Given the description of an element on the screen output the (x, y) to click on. 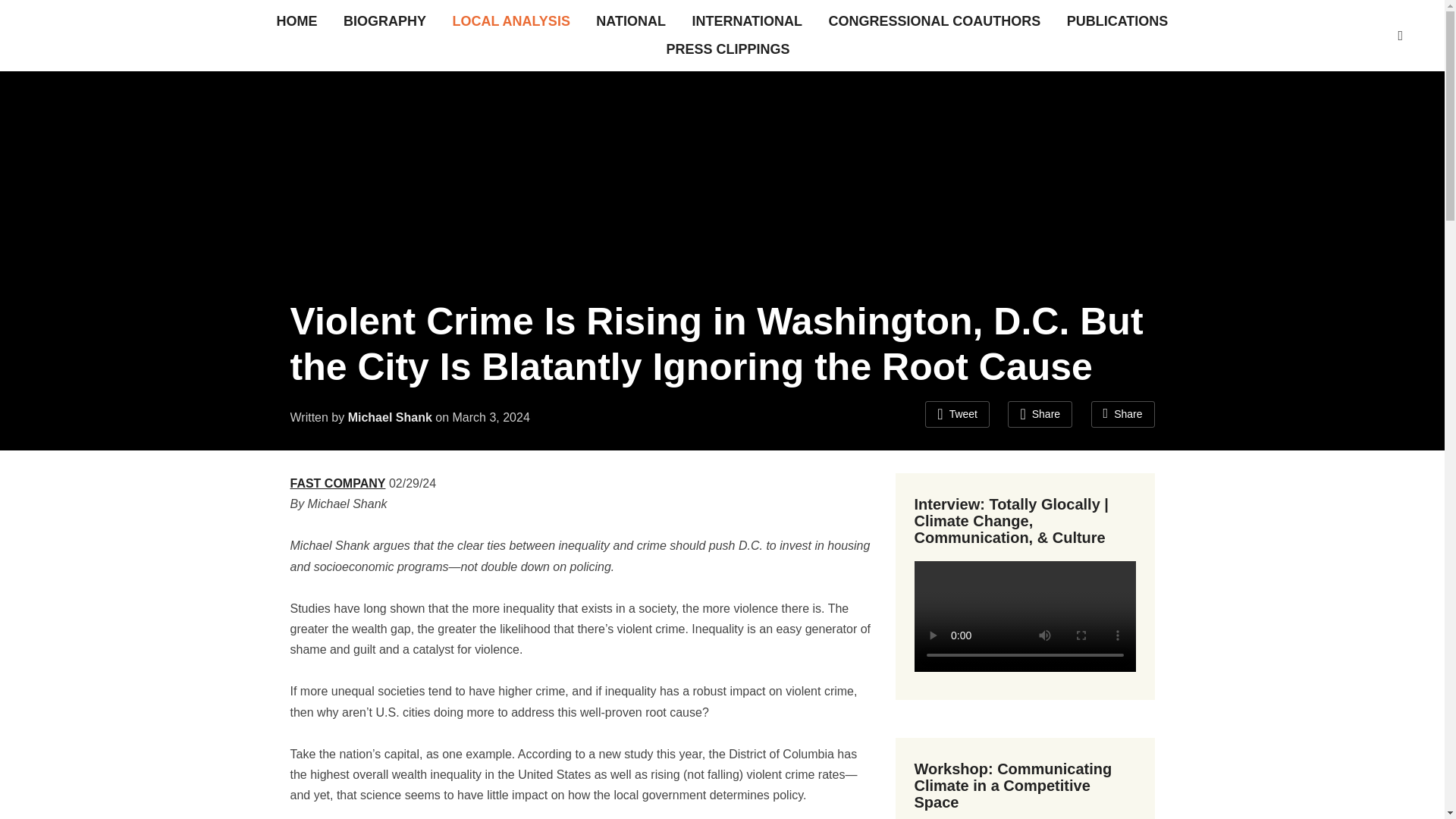
Michael Shank (389, 417)
Share this on Facebook (1039, 414)
HOME (296, 21)
Search (1400, 35)
PRESS CLIPPINGS (727, 49)
INTERNATIONAL (746, 21)
Share (1122, 414)
NATIONAL (630, 21)
Share on LinkedIn (1122, 414)
BIOGRAPHY (384, 21)
